Given the description of an element on the screen output the (x, y) to click on. 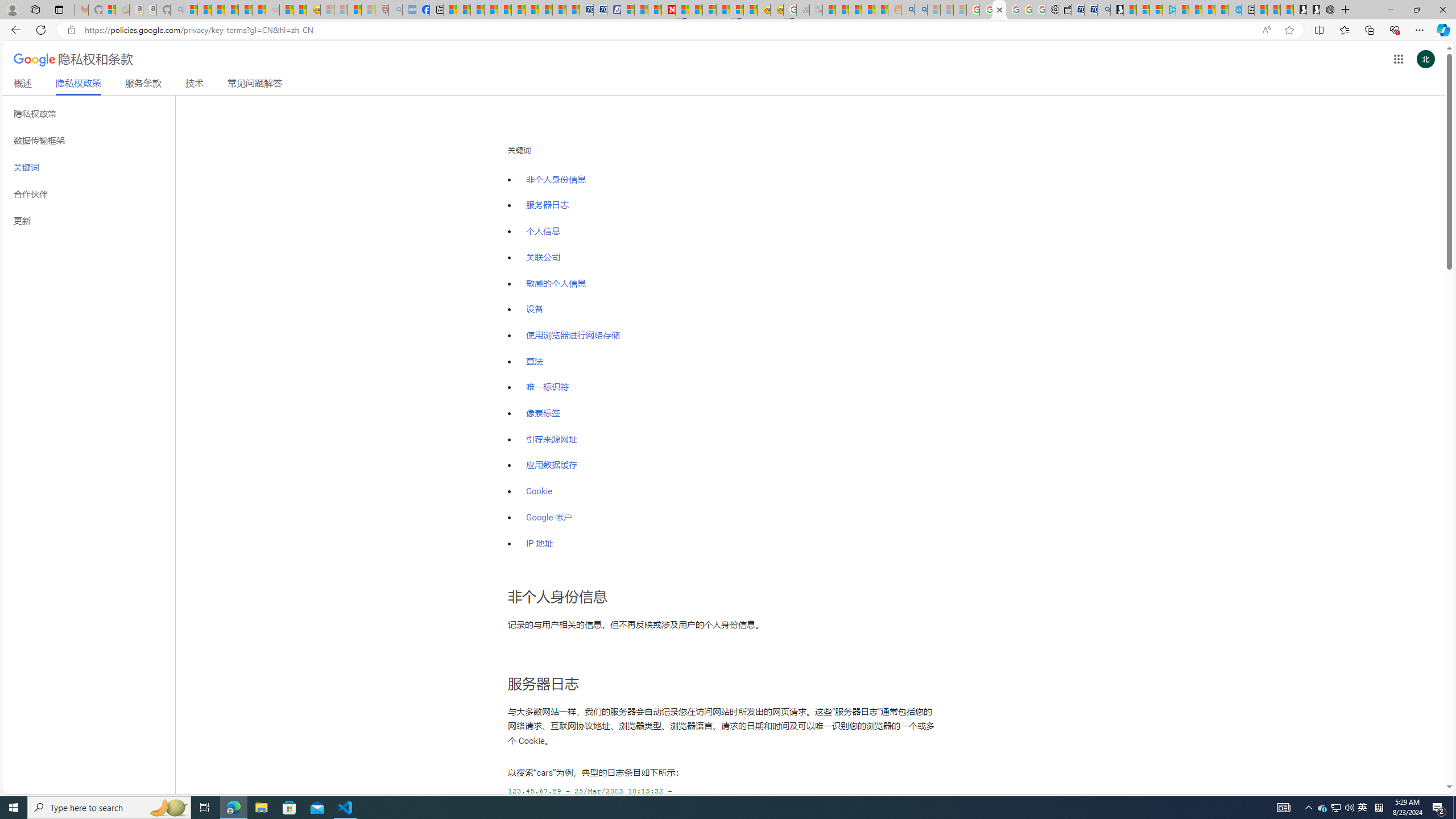
12 Popular Science Lies that Must be Corrected - Sleeping (368, 9)
Cheap Car Rentals - Save70.com (1090, 9)
Home | Sky Blue Bikes - Sky Blue Bikes (1234, 9)
Wallet (1063, 9)
